Given the description of an element on the screen output the (x, y) to click on. 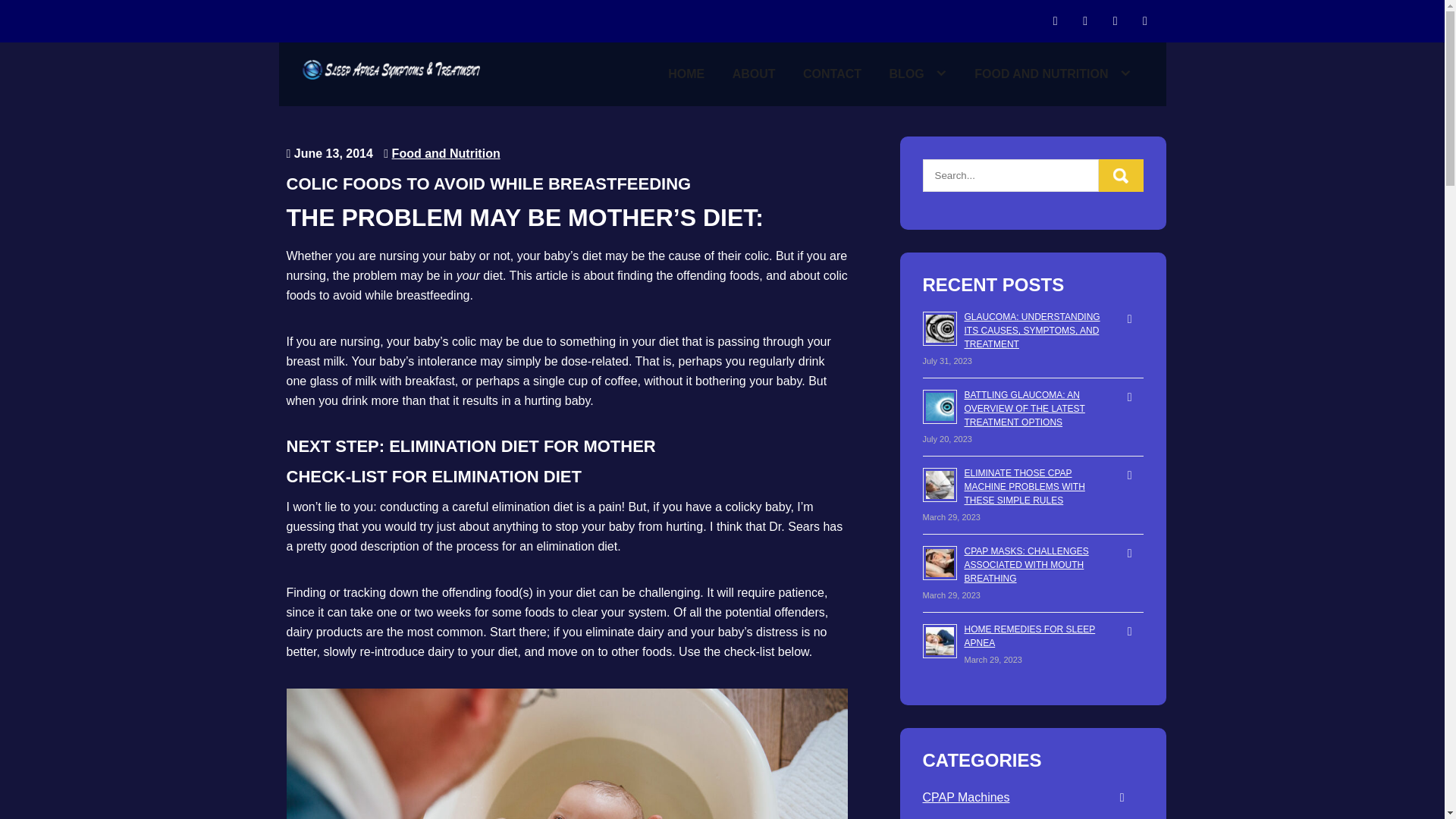
HOME (686, 74)
CONTACT (832, 74)
CPAP MASKS: CHALLENGES ASSOCIATED WITH MOUTH BREATHING (1026, 564)
Search (1120, 174)
HOME REMEDIES FOR SLEEP APNEA (1029, 636)
Search (1120, 174)
BLOG (918, 74)
GLAUCOMA: UNDERSTANDING ITS CAUSES, SYMPTOMS, AND TREATMENT (1031, 330)
Food and Nutrition (445, 153)
FOOD AND NUTRITION (1052, 74)
Search (1120, 174)
ABOUT (754, 74)
